Given the description of an element on the screen output the (x, y) to click on. 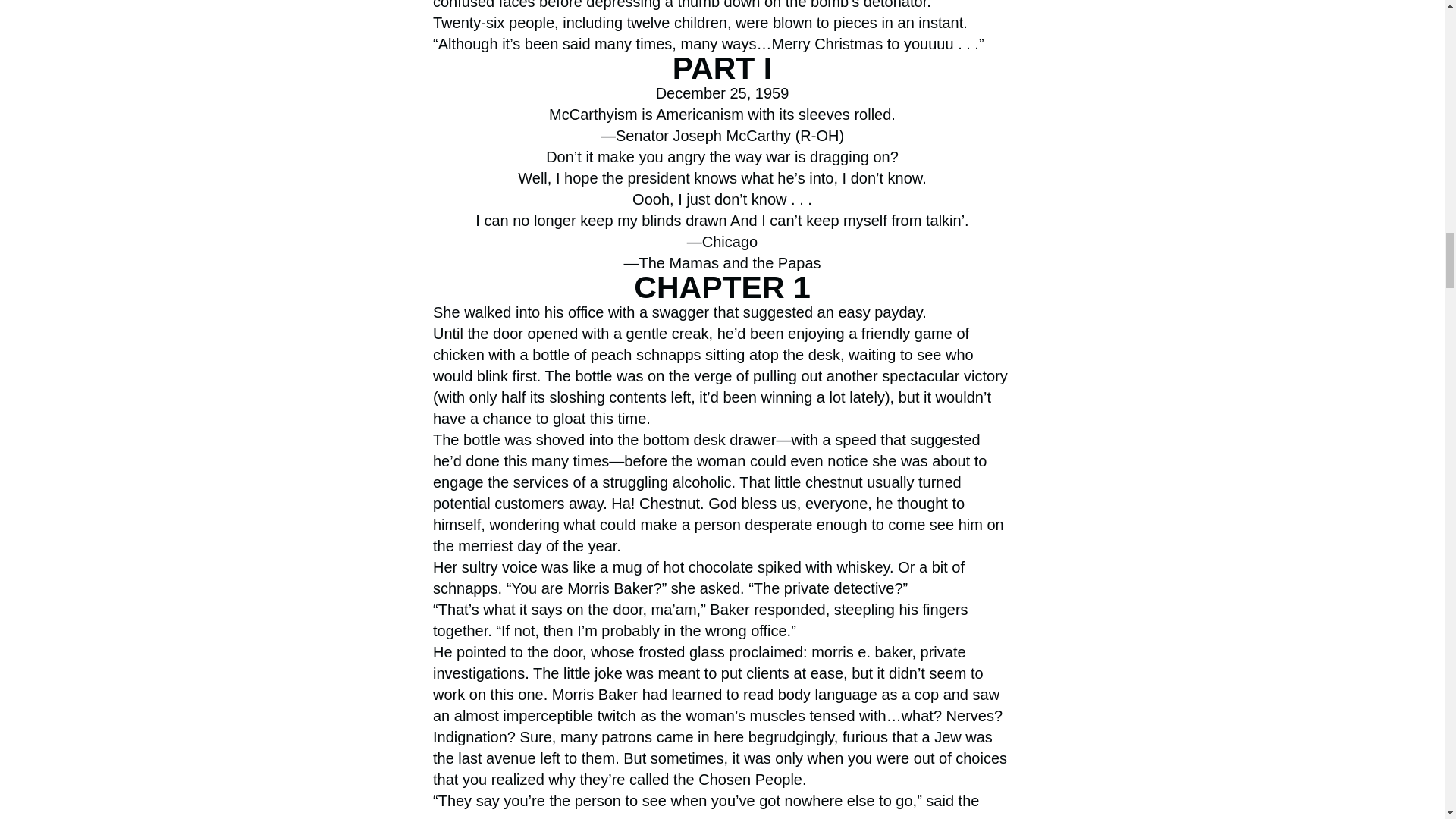
Page 10 (721, 804)
Page 5 (721, 27)
Page 7 (721, 163)
